Given the description of an element on the screen output the (x, y) to click on. 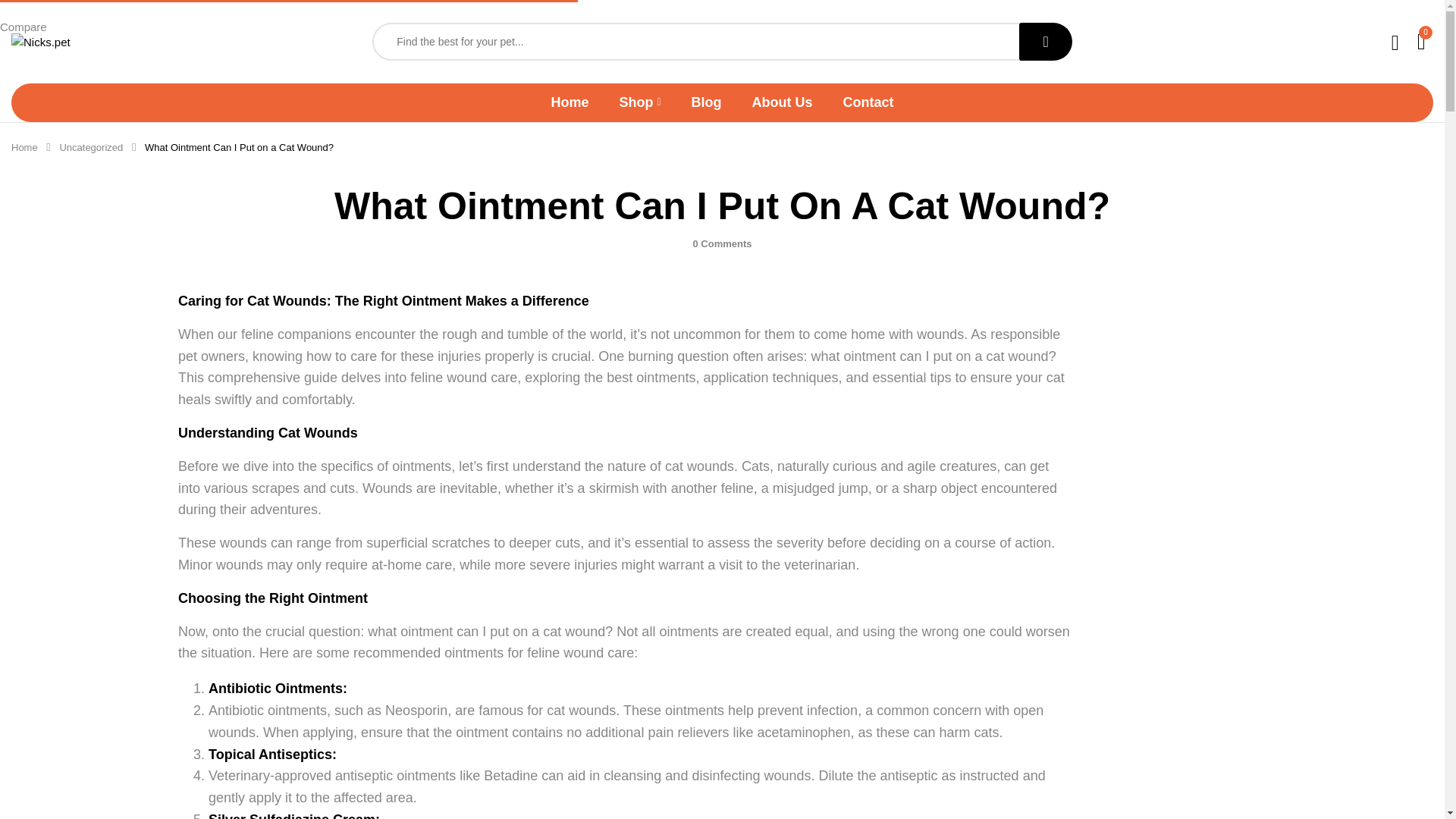
0 Comments (722, 243)
About Us (782, 102)
Home (569, 102)
Contact (868, 102)
search (1045, 41)
Uncategorized (90, 147)
Home (24, 147)
Blog (706, 102)
Shop (639, 102)
